Given the description of an element on the screen output the (x, y) to click on. 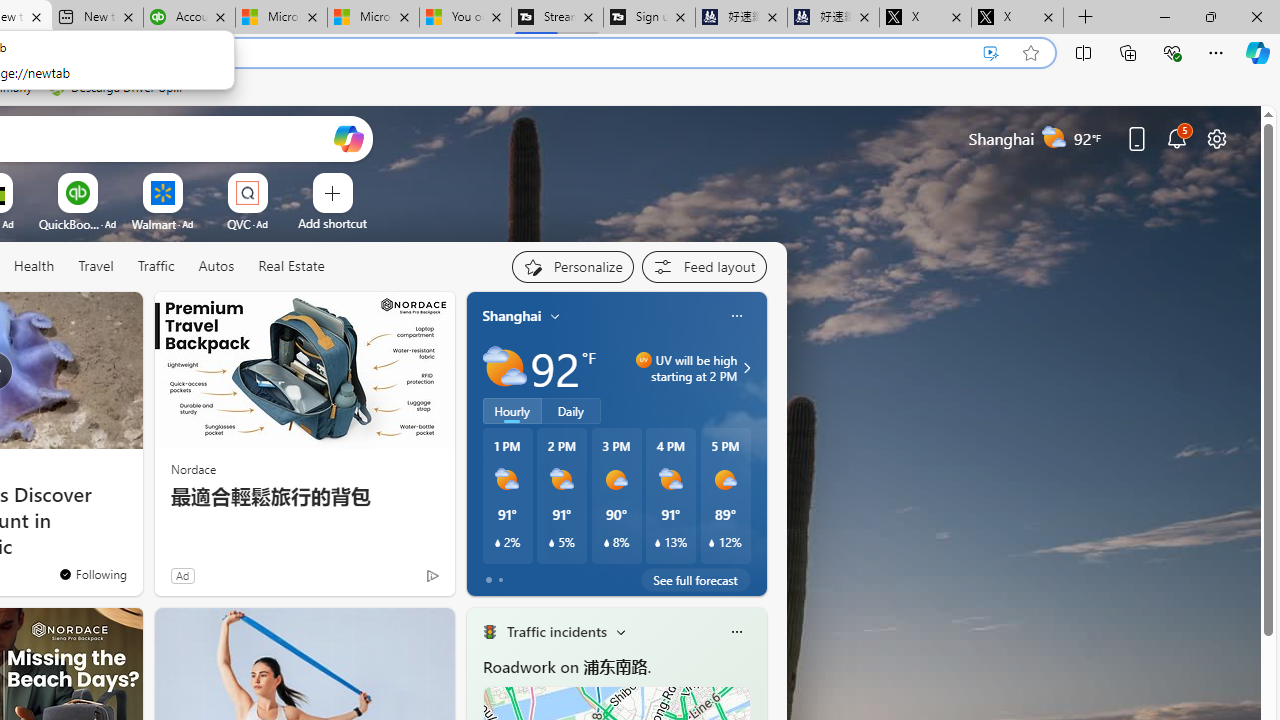
Traffic Title Traffic Light (489, 632)
Enhance video (991, 53)
Partly sunny (504, 368)
Change scenarios (620, 631)
Shanghai (511, 315)
UV will be high starting at 2 PM (744, 367)
Real Estate (290, 267)
